Given the description of an element on the screen output the (x, y) to click on. 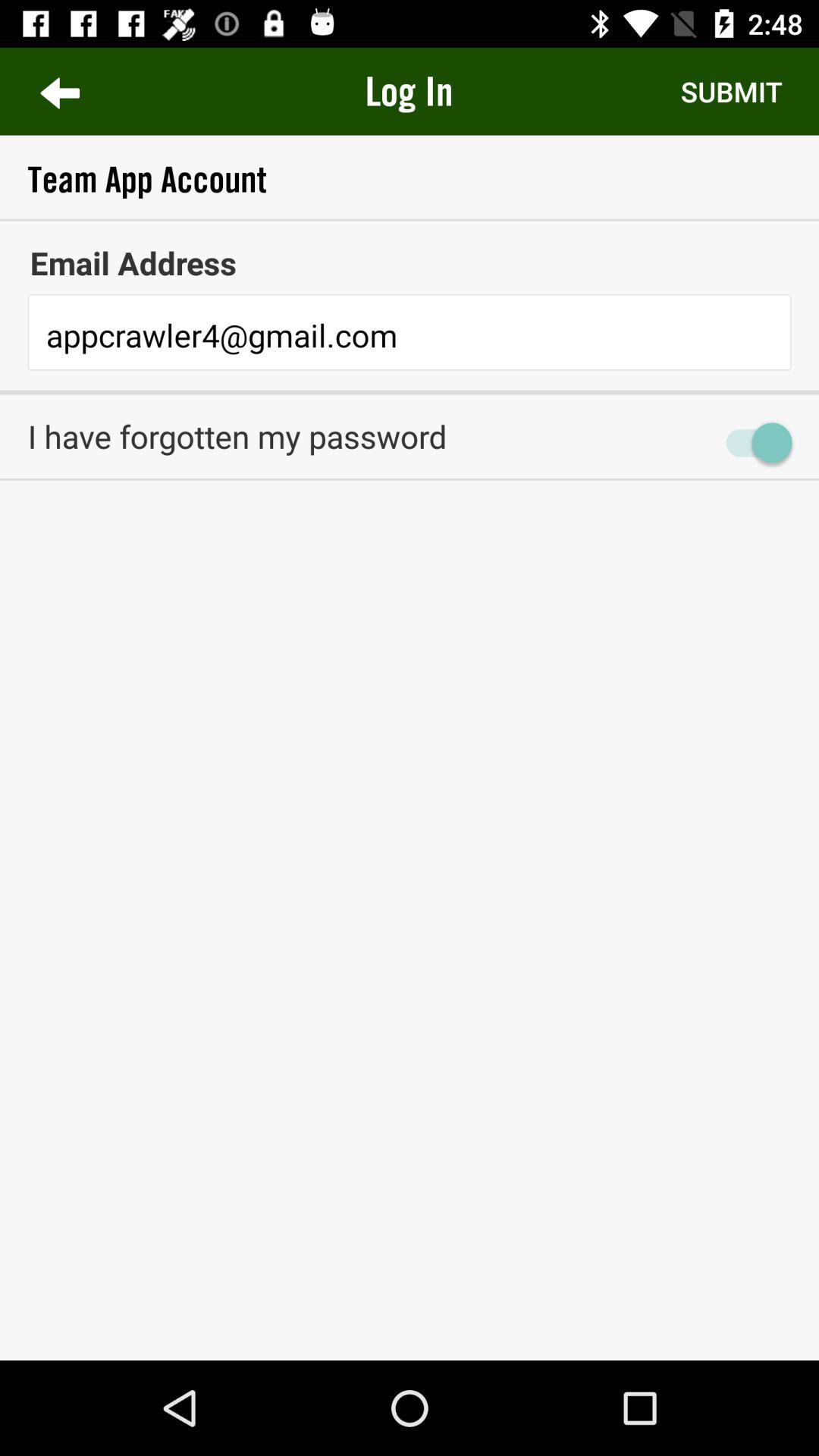
launch email address icon (409, 262)
